Given the description of an element on the screen output the (x, y) to click on. 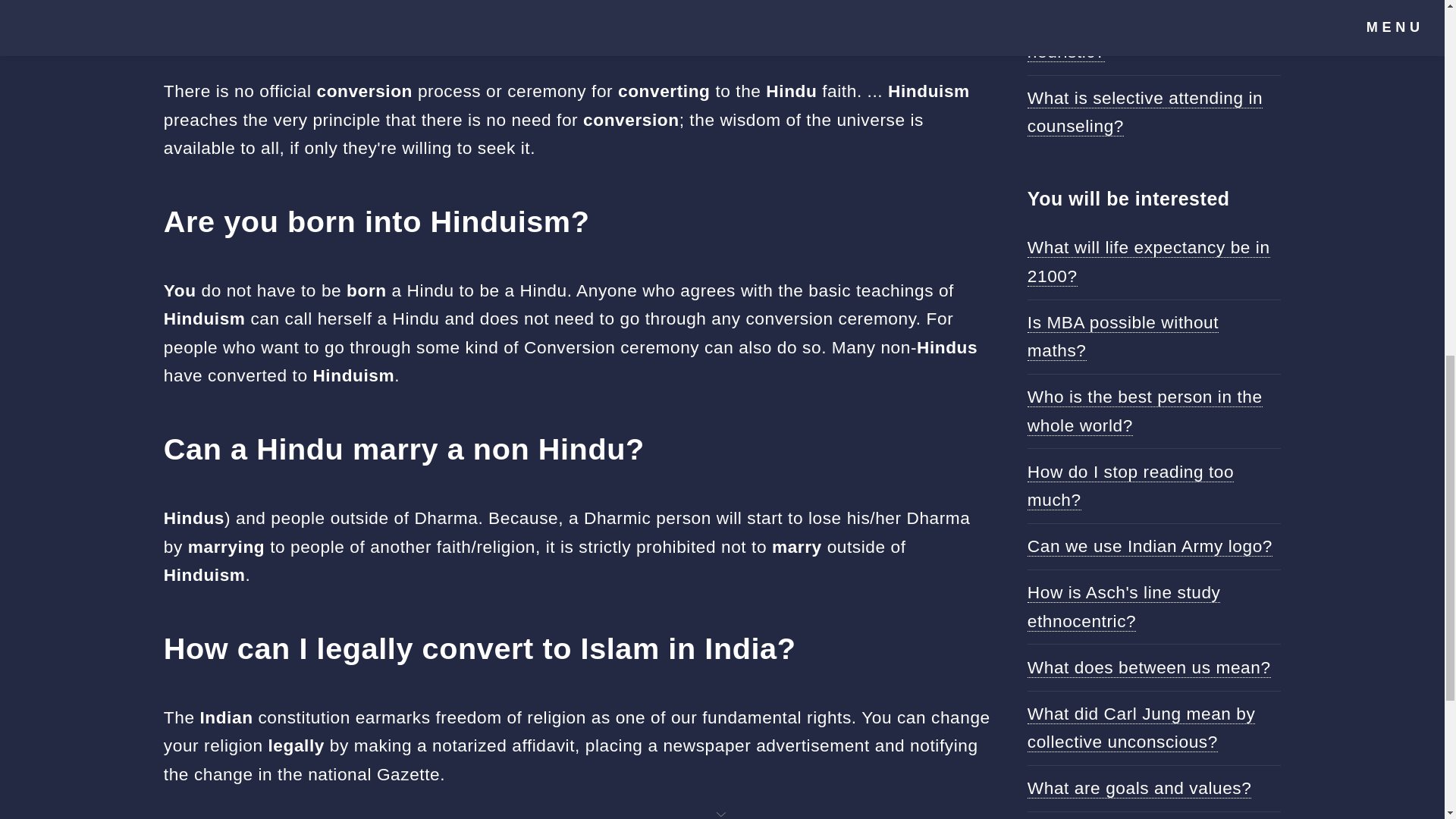
Can we use Indian Army logo? (1149, 546)
What is selective attending in counseling? (1144, 111)
What did Carl Jung mean by collective unconscious? (1141, 727)
How do I stop reading too much? (1130, 485)
When would you use a heuristic? (1118, 37)
Who is the best person in the whole world? (1144, 410)
What will life expectancy be in 2100? (1148, 261)
How is Asch's line study ethnocentric? (1124, 606)
What are goals and values? (1139, 788)
Is MBA possible without maths? (1122, 336)
